Given the description of an element on the screen output the (x, y) to click on. 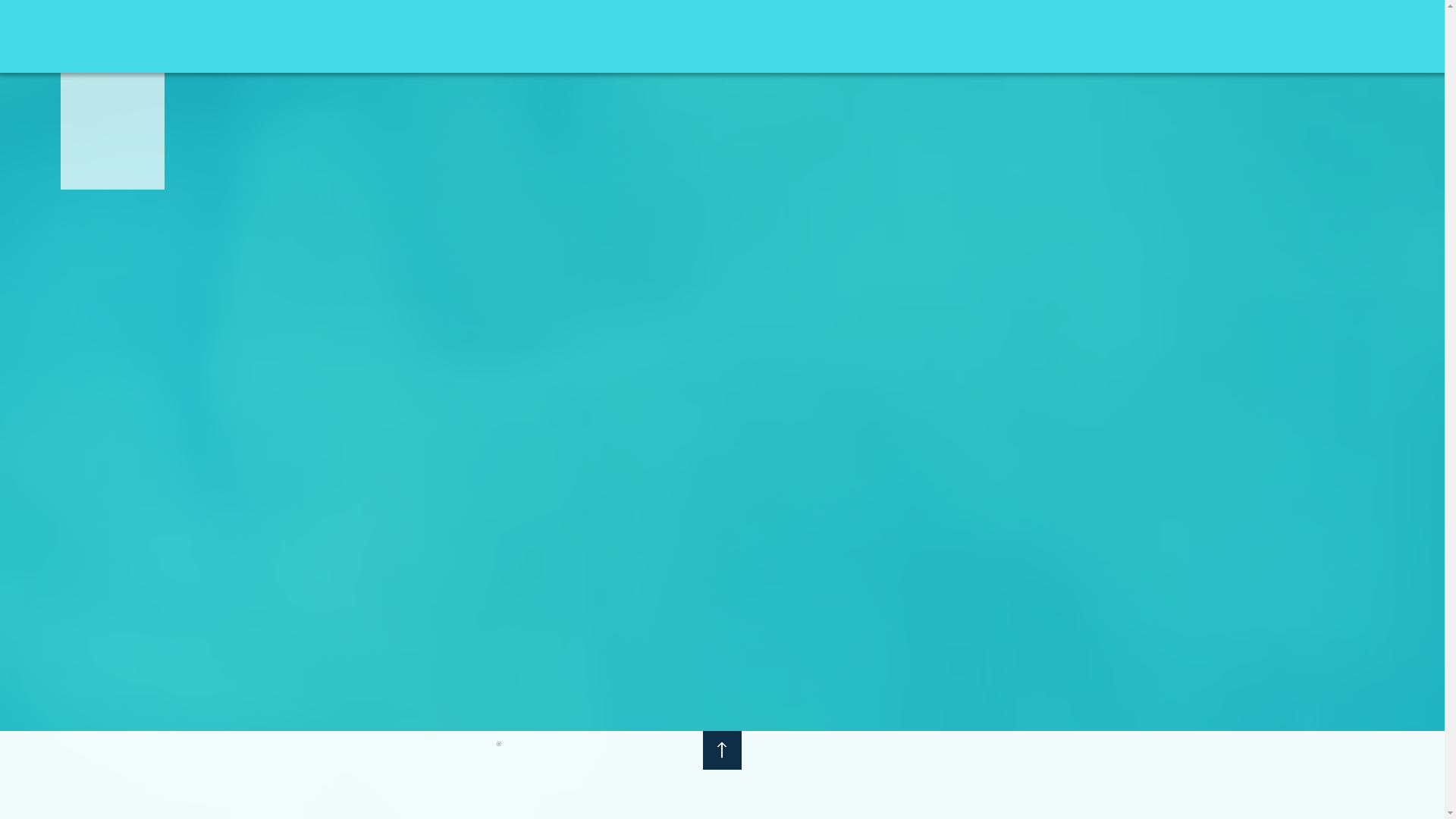
Home Element type: text (878, 41)
T&Cs + Privacy Policy Element type: text (498, 749)
Universities Element type: text (1221, 41)
Embedded Content Element type: hover (721, 307)
Goodie Guides Element type: text (1316, 41)
About Us Element type: text (942, 41)
Charities - Post Your Opportunity Element type: text (1079, 41)
